Given the description of an element on the screen output the (x, y) to click on. 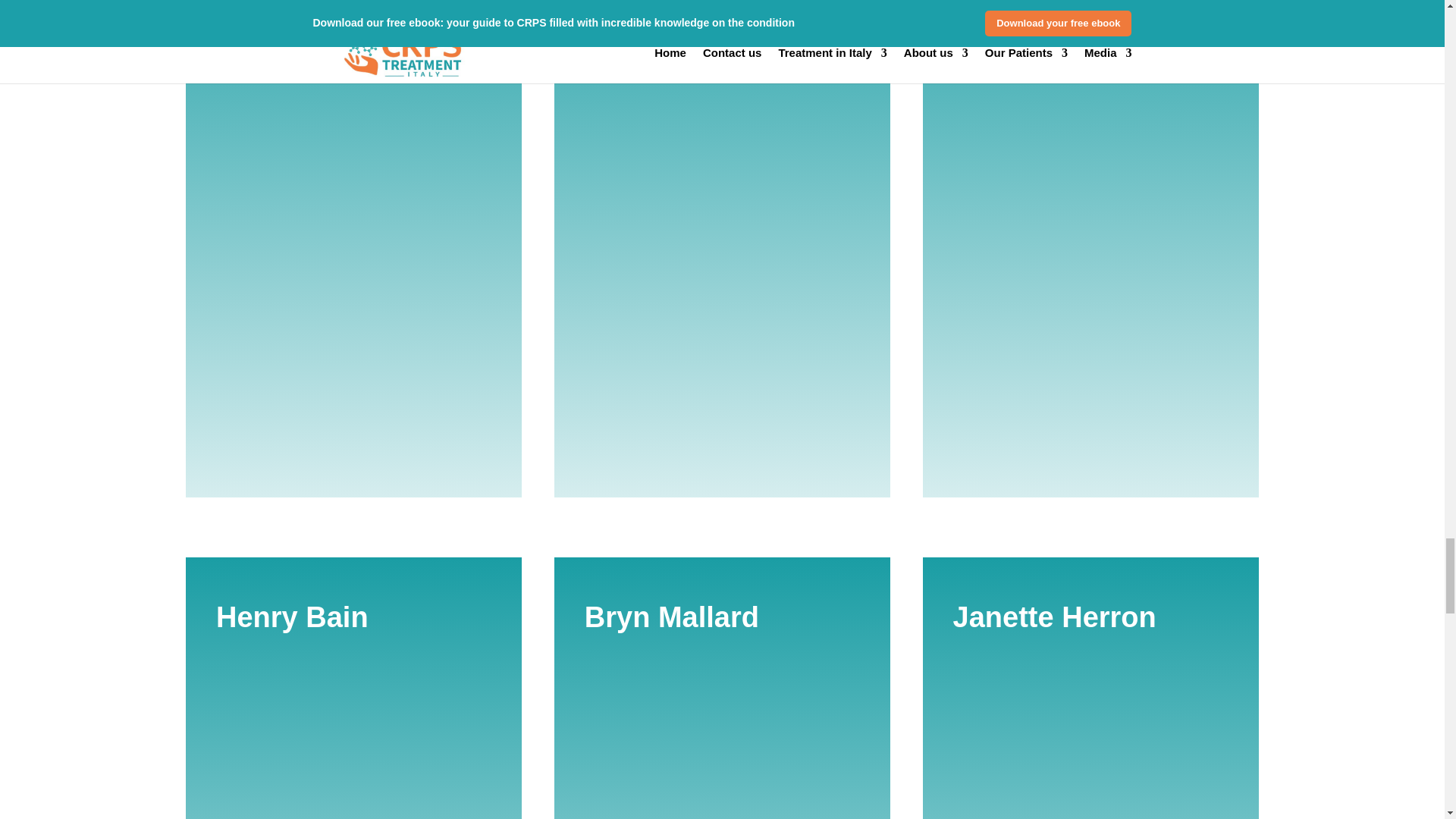
Crps Treatment Neridronata - Janette Testimonial (1090, 735)
CRPS Treatment Neridronate -Patient Testimonial - Henry Bain (353, 735)
